Given the description of an element on the screen output the (x, y) to click on. 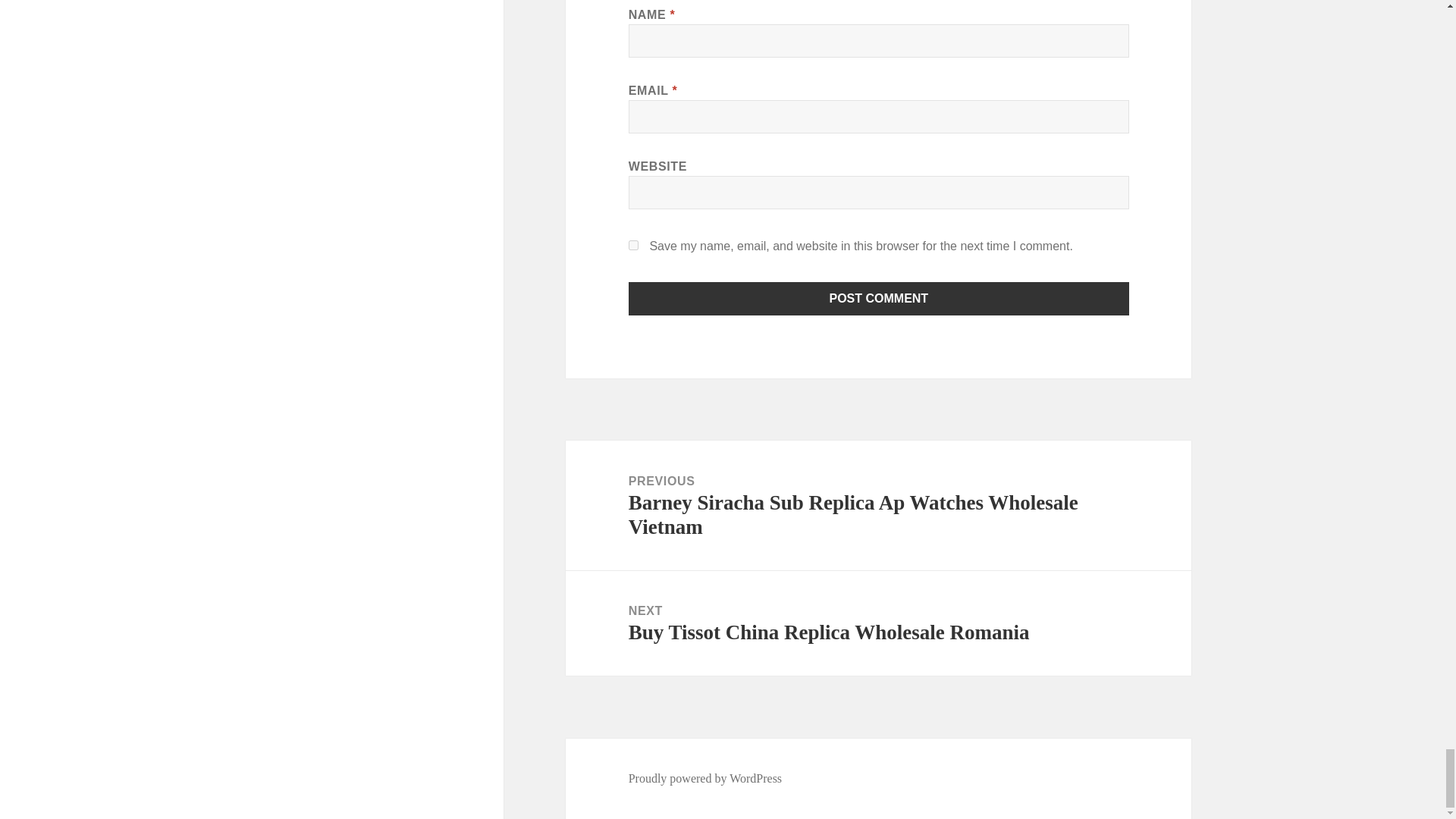
Post Comment (878, 298)
Post Comment (878, 298)
Proudly powered by WordPress (704, 778)
yes (878, 623)
